Given the description of an element on the screen output the (x, y) to click on. 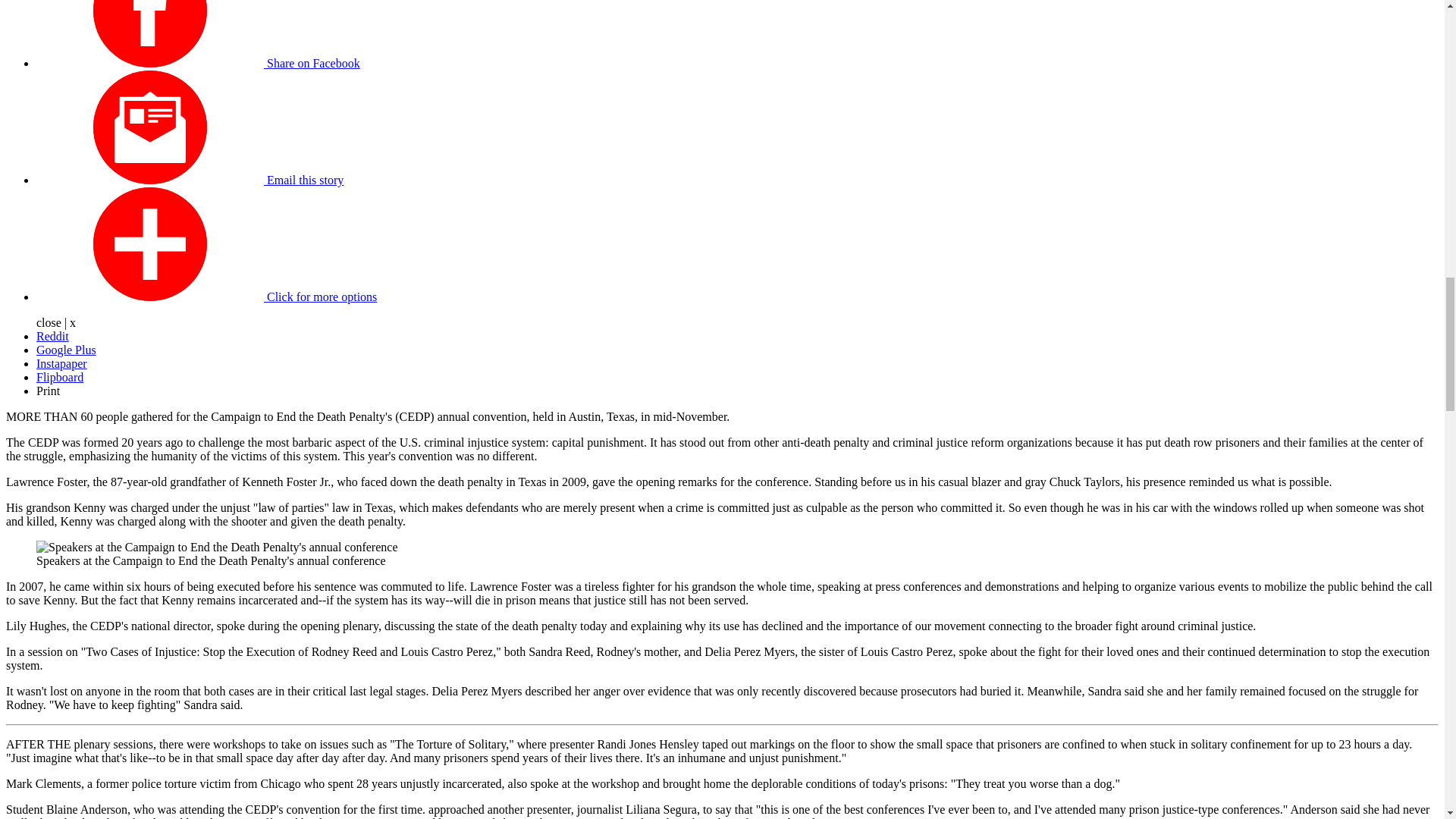
Print (47, 390)
Click for more options (206, 296)
Email this story (189, 179)
Share on Facebook (197, 62)
Reddit (52, 336)
Instapaper (61, 363)
Flipboard (59, 377)
Google Plus (66, 349)
